Given the description of an element on the screen output the (x, y) to click on. 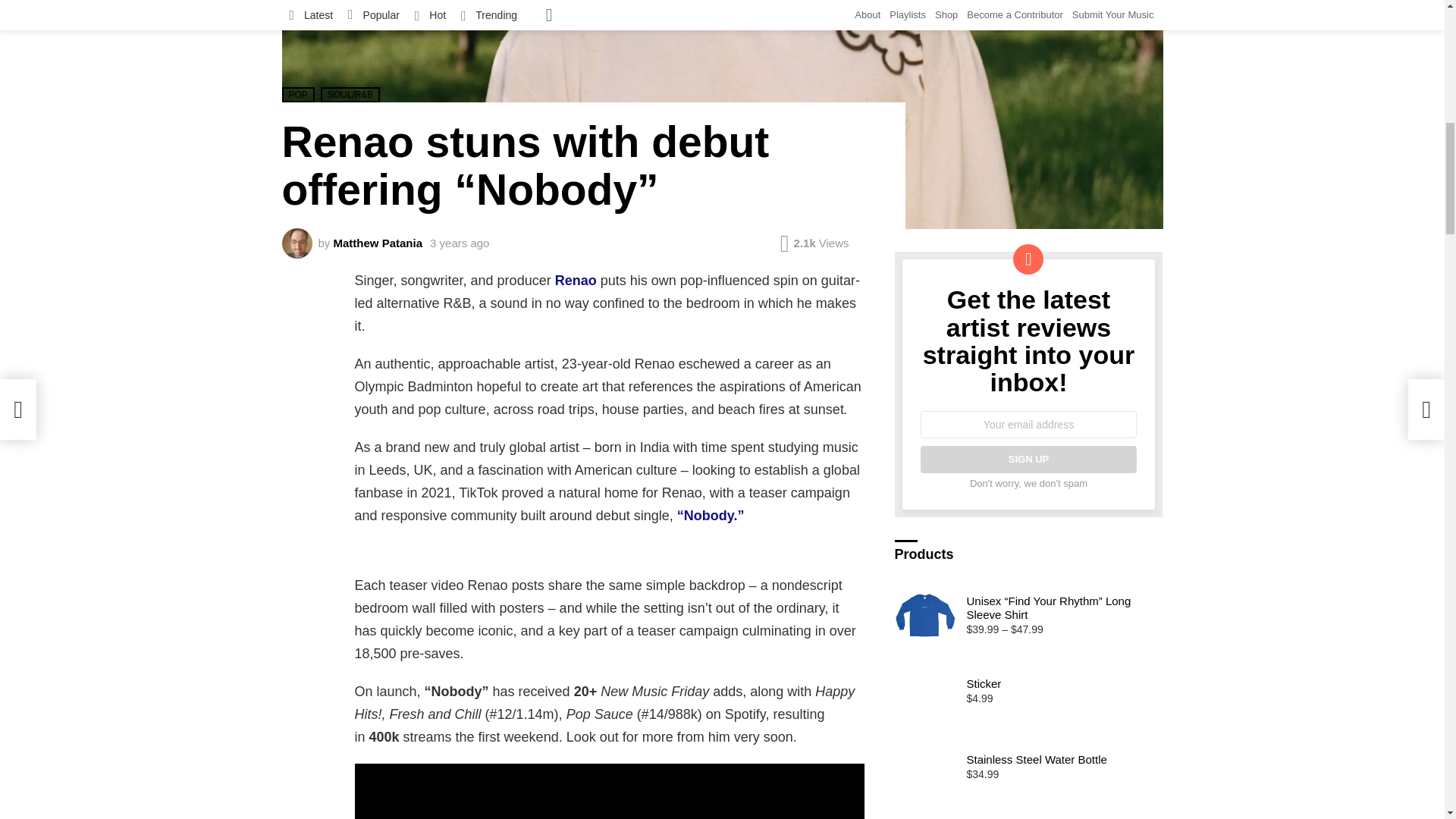
Sign up (1028, 459)
Posts by Matthew Patania (378, 242)
Matthew Patania (378, 242)
POP (298, 94)
December 9, 2021, 8:00 pm (459, 243)
Renao (575, 280)
